Given the description of an element on the screen output the (x, y) to click on. 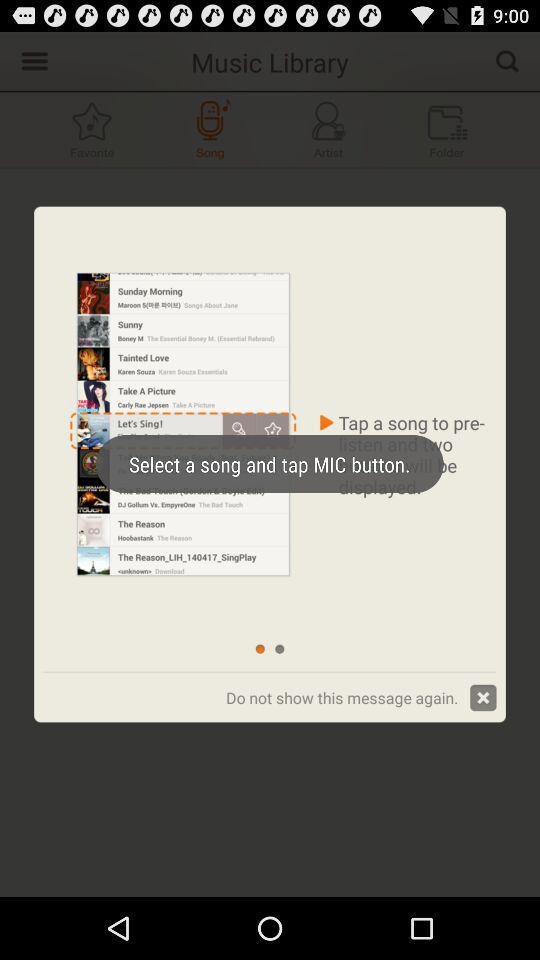
toggle foler (447, 129)
